Given the description of an element on the screen output the (x, y) to click on. 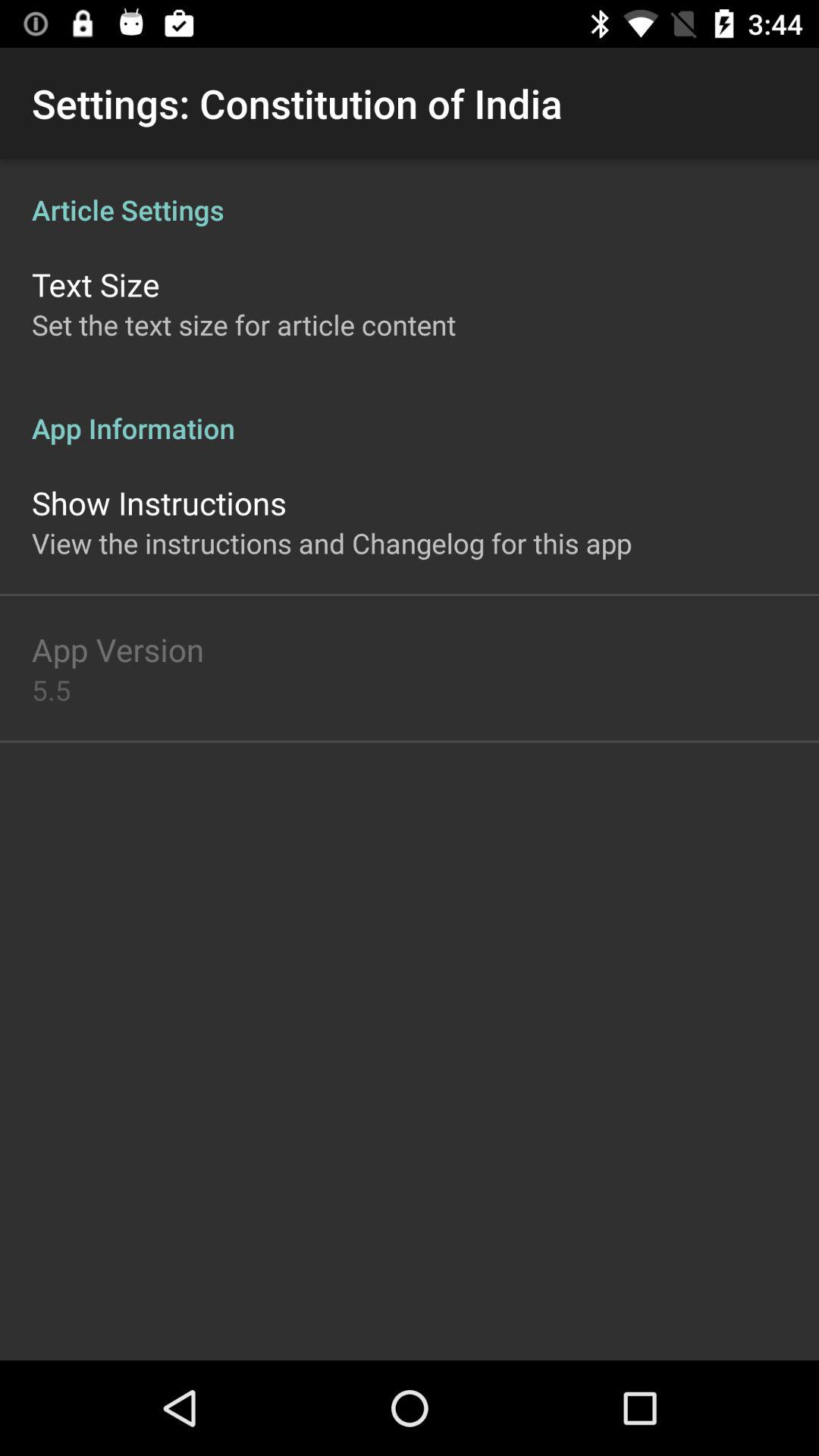
flip until 5.5 icon (51, 689)
